Given the description of an element on the screen output the (x, y) to click on. 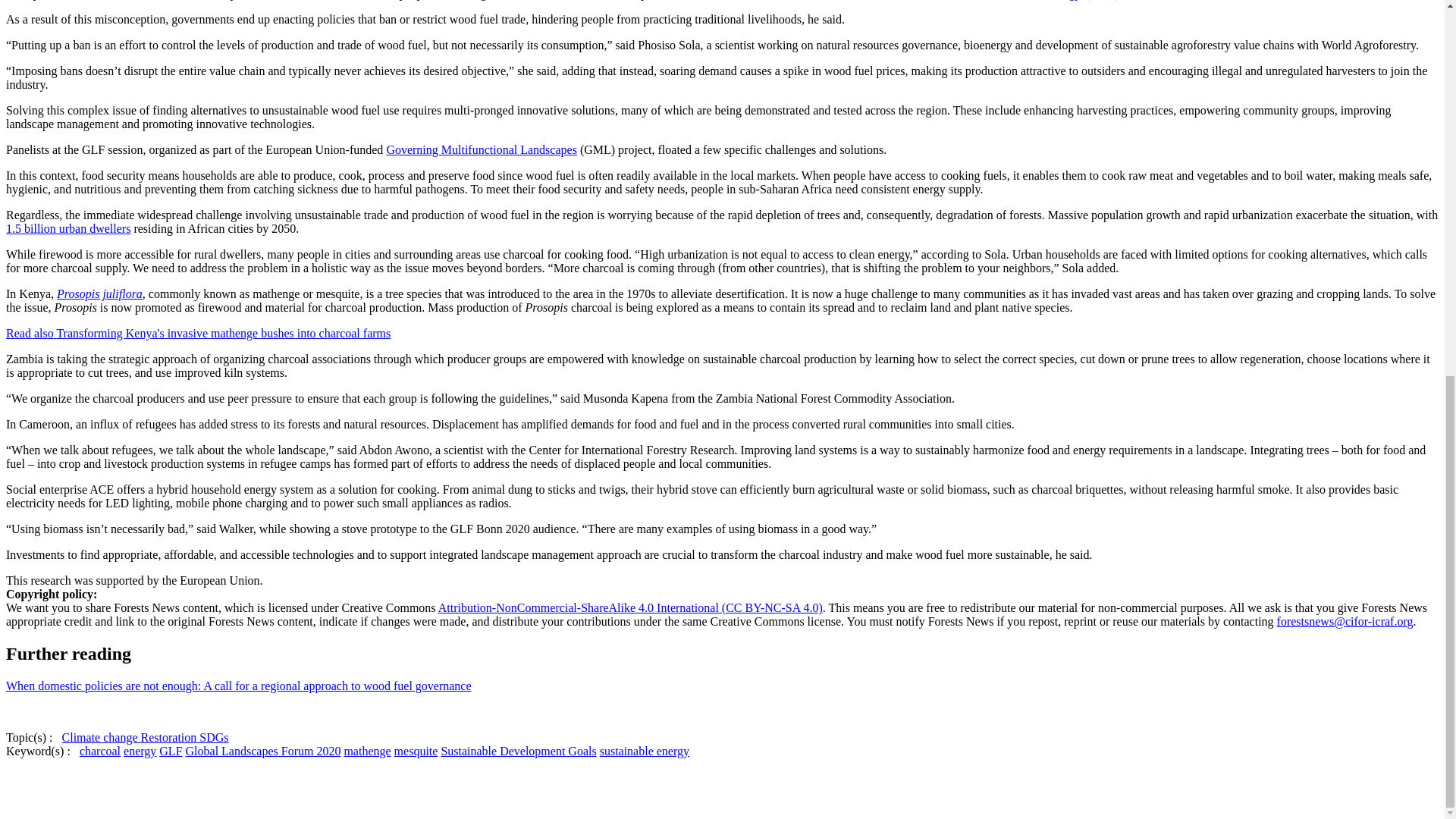
SDGs (212, 737)
mesquite (416, 750)
Governing Multifunctional Landscapes (480, 149)
mathenge (366, 750)
Restoration (167, 737)
Climate change (100, 737)
energy (139, 750)
sustainable energy (643, 750)
1.5 billion urban dwellers (68, 228)
Global Landscapes Forum 2020 (263, 750)
GLF (170, 750)
Prosopis juliflora (99, 293)
Sustainable Development Goals (518, 750)
